Given the description of an element on the screen output the (x, y) to click on. 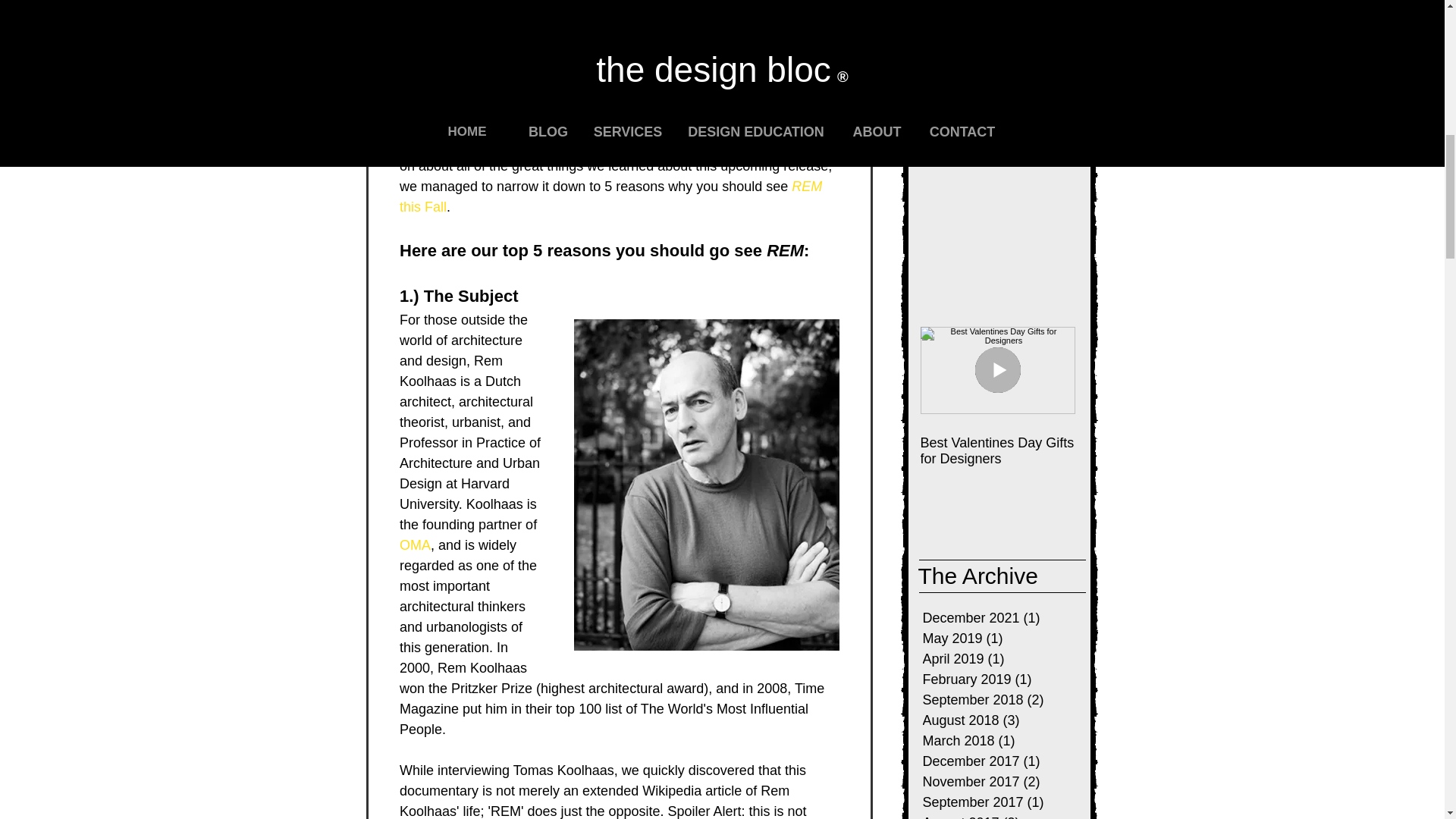
REM (807, 185)
this Fall (421, 206)
OMA (413, 544)
